Given the description of an element on the screen output the (x, y) to click on. 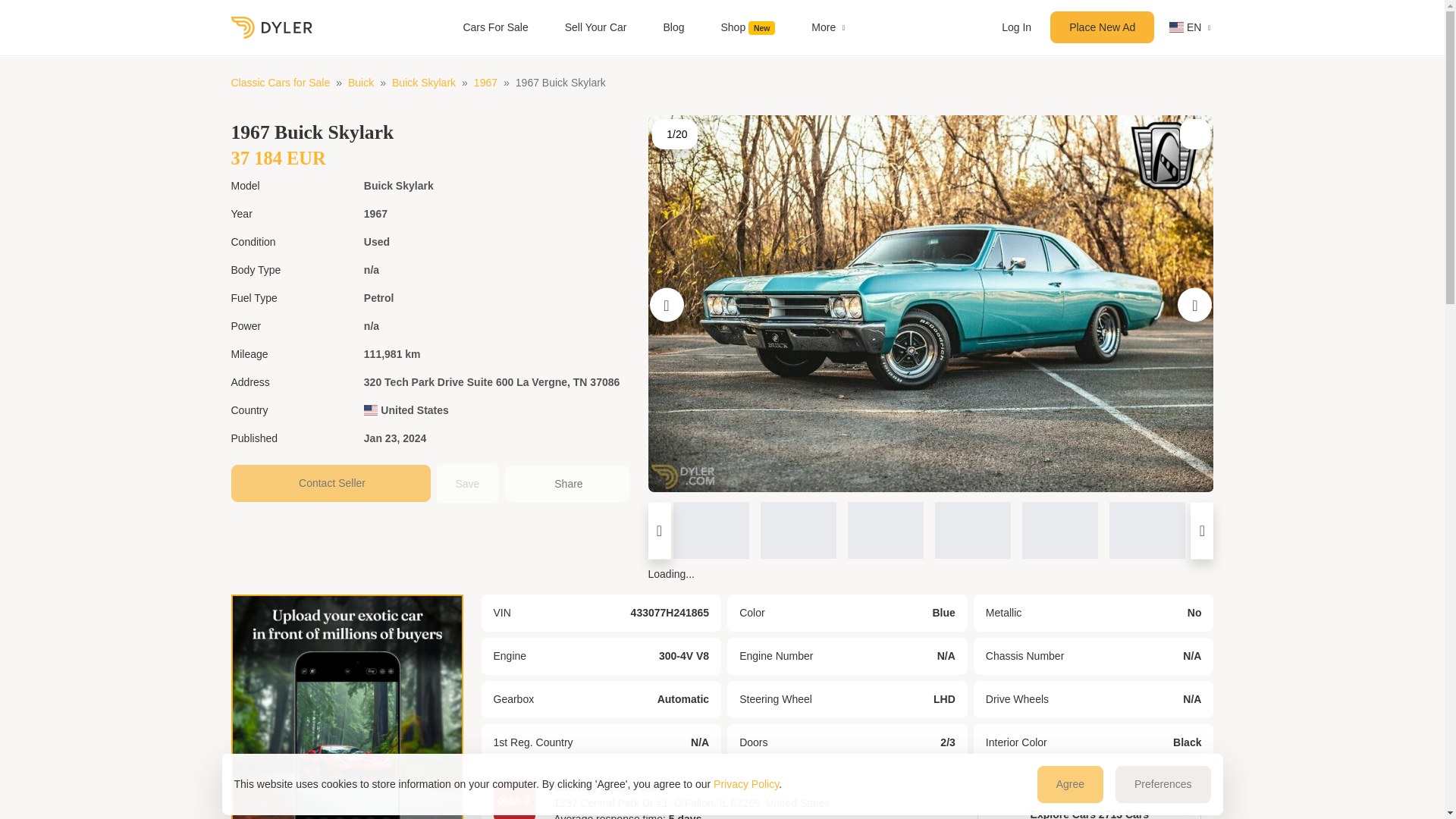
Previous (665, 305)
Next (1194, 305)
1967 (485, 82)
1967 Buick Skylark for Sale (485, 82)
Cars For Sale (494, 27)
Contact Seller (329, 483)
EN (1183, 27)
Sell Your Car (596, 27)
Place New Ad (1101, 27)
United States (406, 410)
Share (566, 484)
Blog (672, 27)
Buick (360, 82)
Buick Skylark (423, 82)
Buick Skylark for Sale (423, 82)
